Given the description of an element on the screen output the (x, y) to click on. 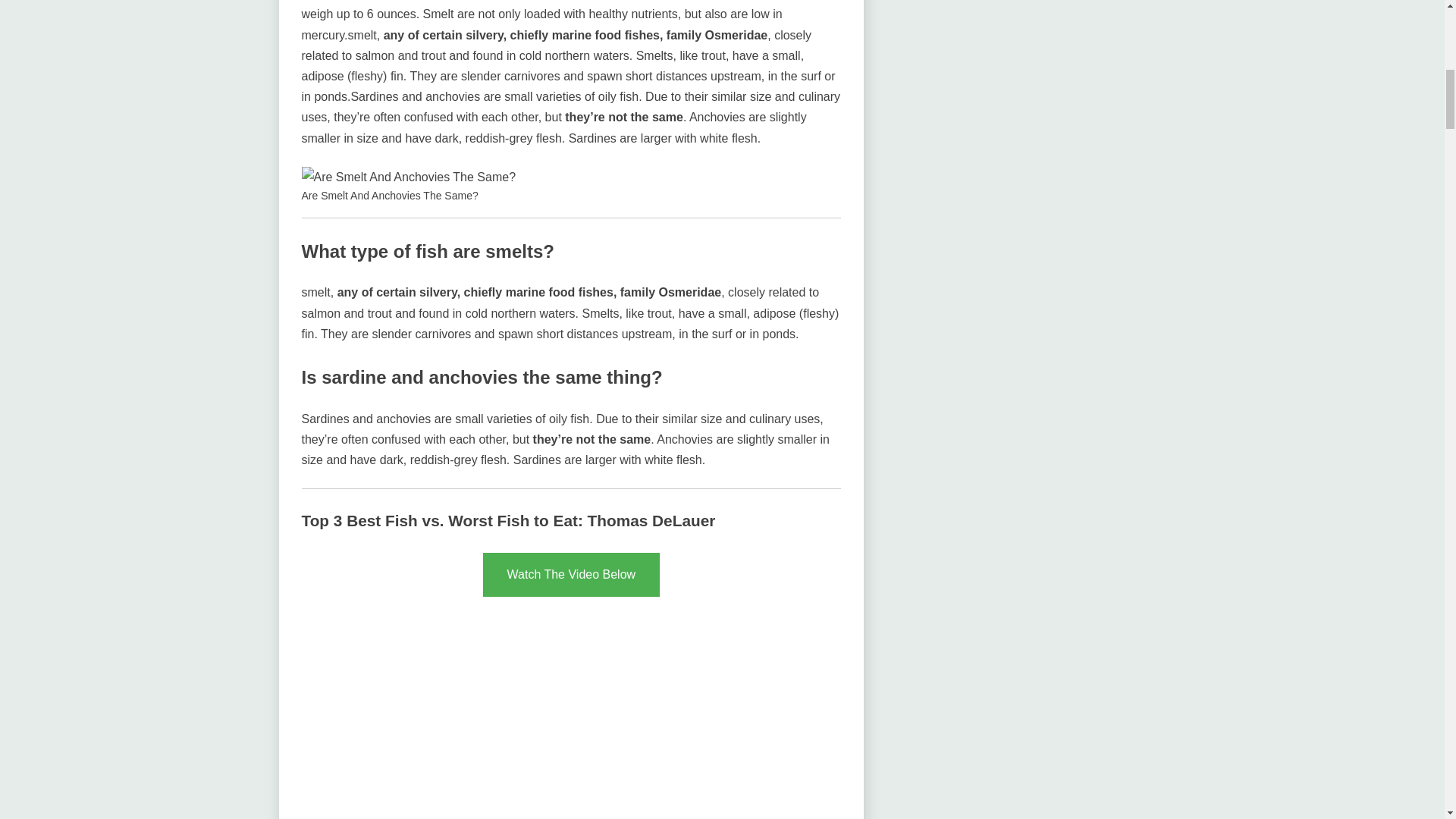
Watch The Video Below (572, 574)
